Given the description of an element on the screen output the (x, y) to click on. 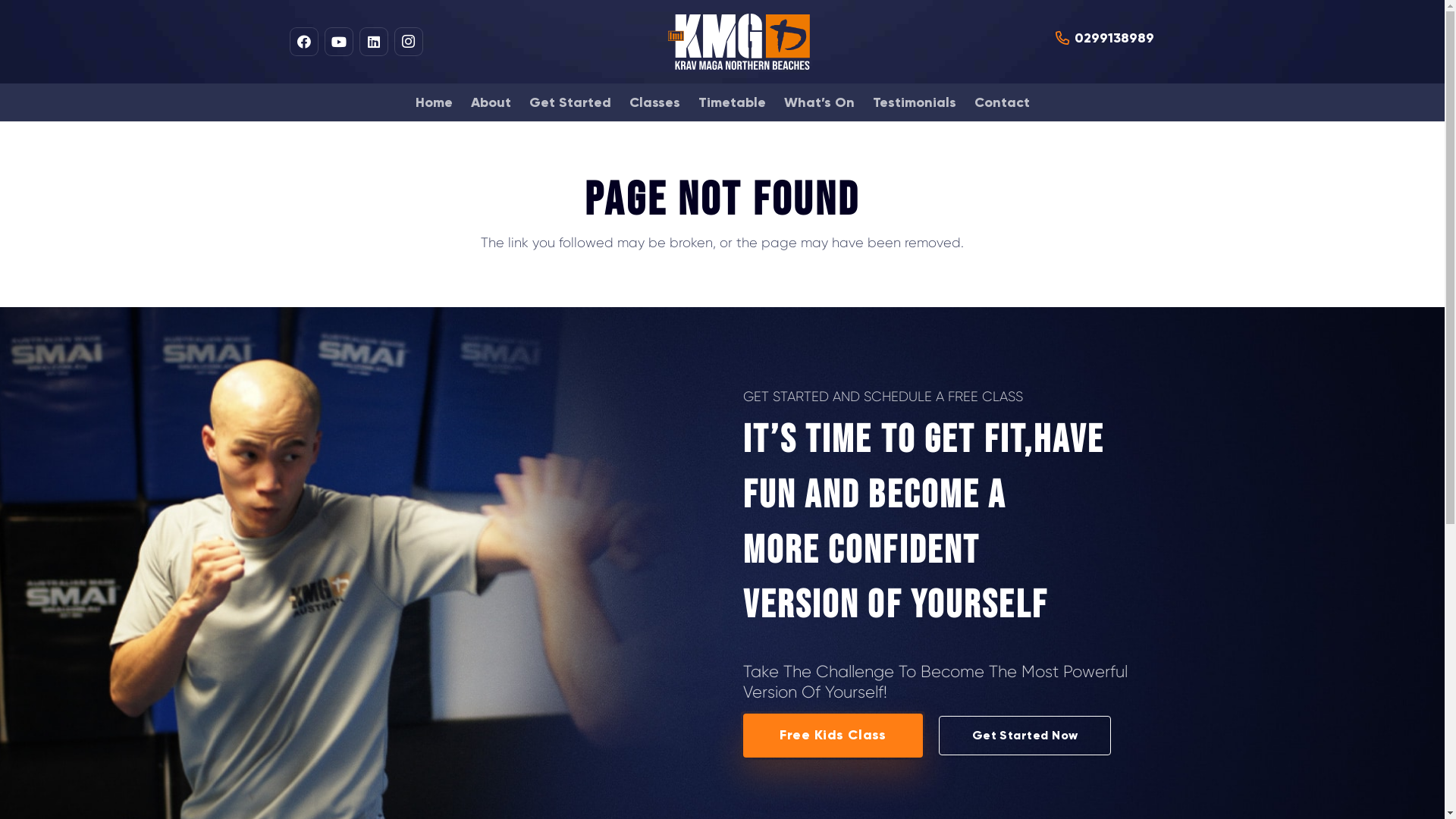
Get Started Now Element type: text (1024, 734)
Testimonials Element type: text (913, 102)
Timetable Element type: text (731, 102)
Home Element type: text (433, 102)
Free Kids Class Element type: text (832, 735)
0299138989 Element type: text (1104, 37)
Instagram Element type: hover (407, 41)
Contact Element type: text (1001, 102)
YouTube Element type: hover (337, 41)
About Element type: text (490, 102)
Classes Element type: text (654, 102)
Facebook Element type: hover (302, 41)
Get Started Element type: text (570, 102)
LinkedIn Element type: hover (372, 41)
